Given the description of an element on the screen output the (x, y) to click on. 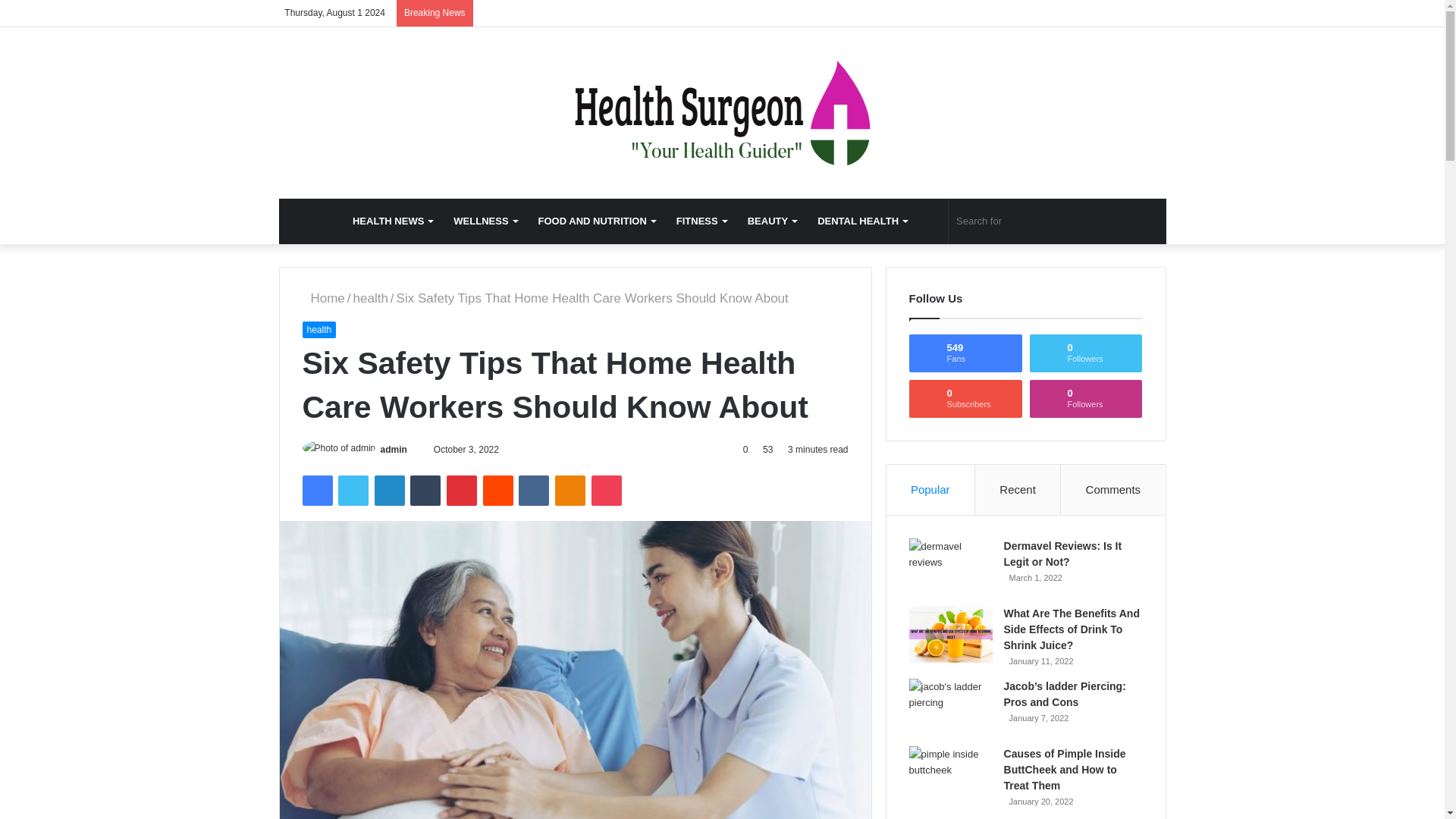
FITNESS (700, 221)
FOOD AND NUTRITION (596, 221)
health (318, 329)
WELLNESS (484, 221)
Health Surgeon (722, 112)
Pinterest (461, 490)
Twitter (352, 490)
BEAUTY (771, 221)
Home (322, 298)
Facebook (316, 490)
Reddit (498, 490)
HEALTH NEWS (392, 221)
Tumblr (425, 490)
DENTAL HEALTH (861, 221)
health (370, 298)
